Given the description of an element on the screen output the (x, y) to click on. 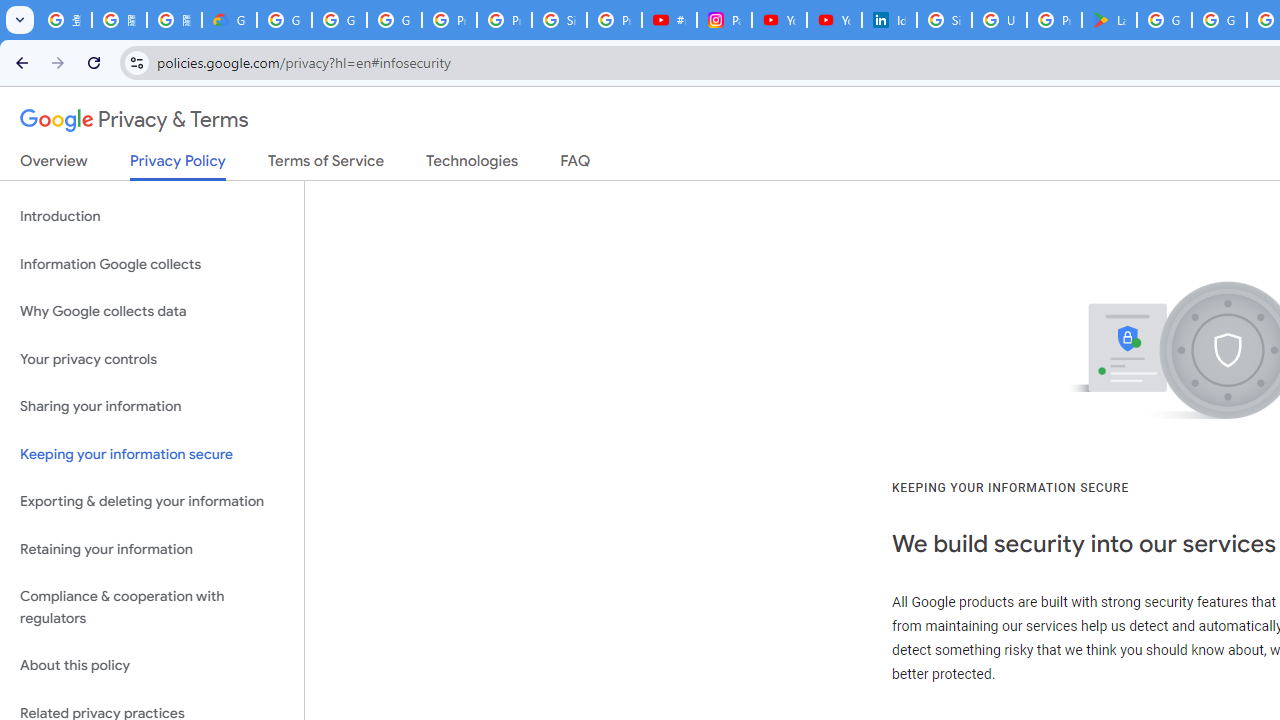
YouTube Culture & Trends - On The Rise: Handcam Videos (779, 20)
Sign in - Google Accounts (559, 20)
#nbabasketballhighlights - YouTube (669, 20)
